Given the description of an element on the screen output the (x, y) to click on. 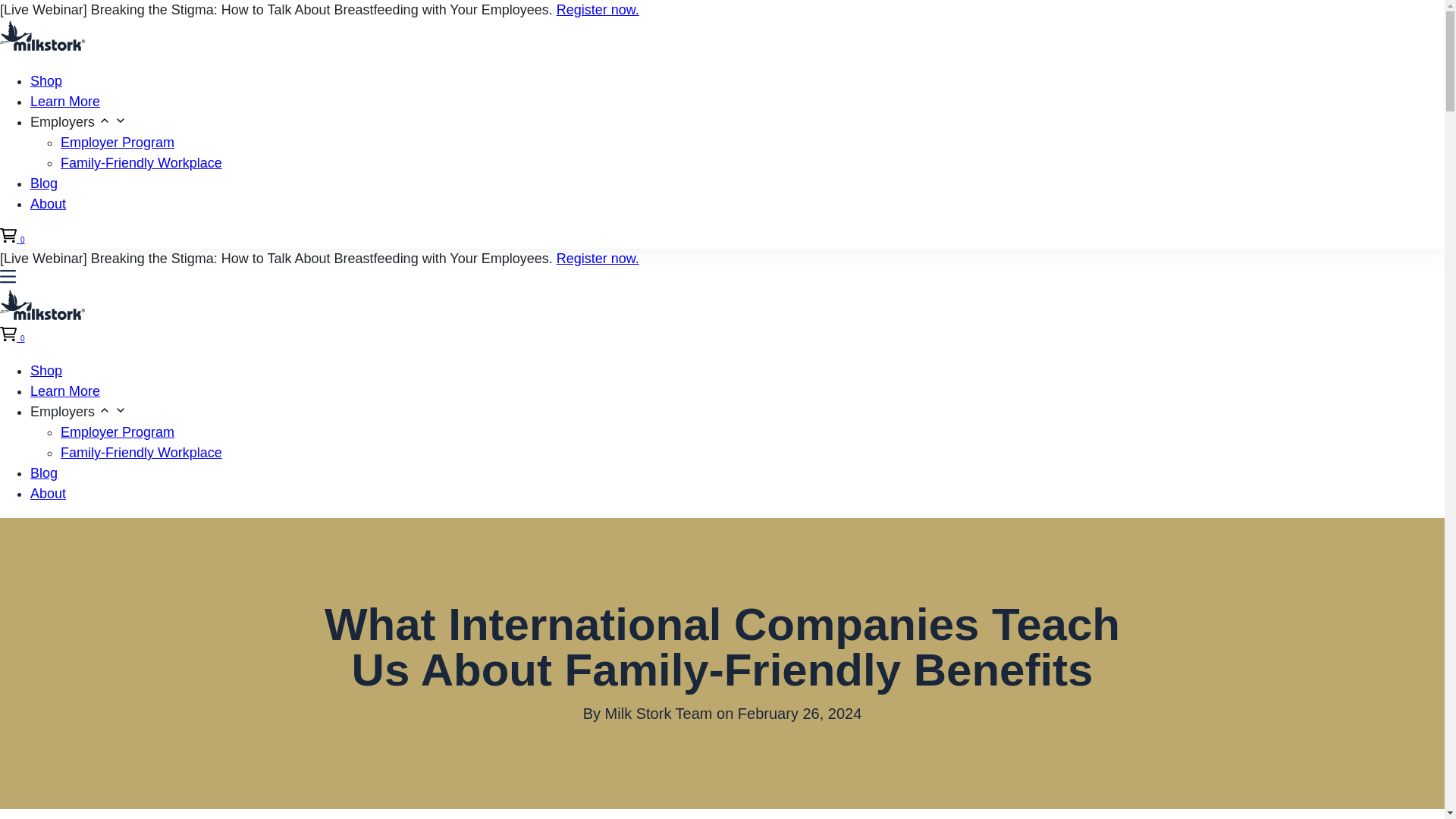
Milk Stork Team (659, 713)
